Given the description of an element on the screen output the (x, y) to click on. 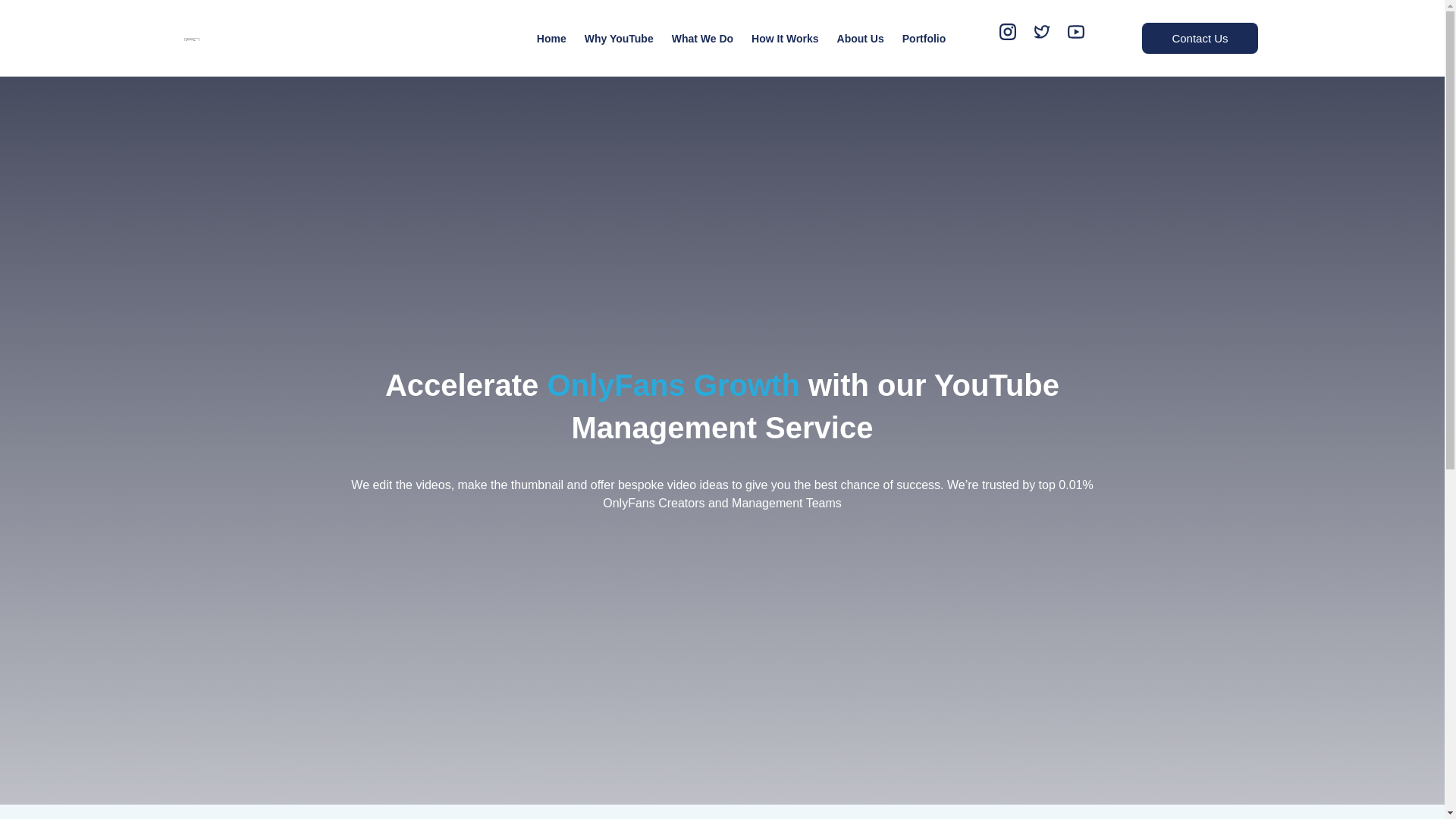
What We Do (702, 37)
About Us (860, 37)
Why YouTube (618, 37)
Home (551, 37)
How It Works (784, 37)
Portfolio (924, 37)
Contact Us (1199, 38)
